Given the description of an element on the screen output the (x, y) to click on. 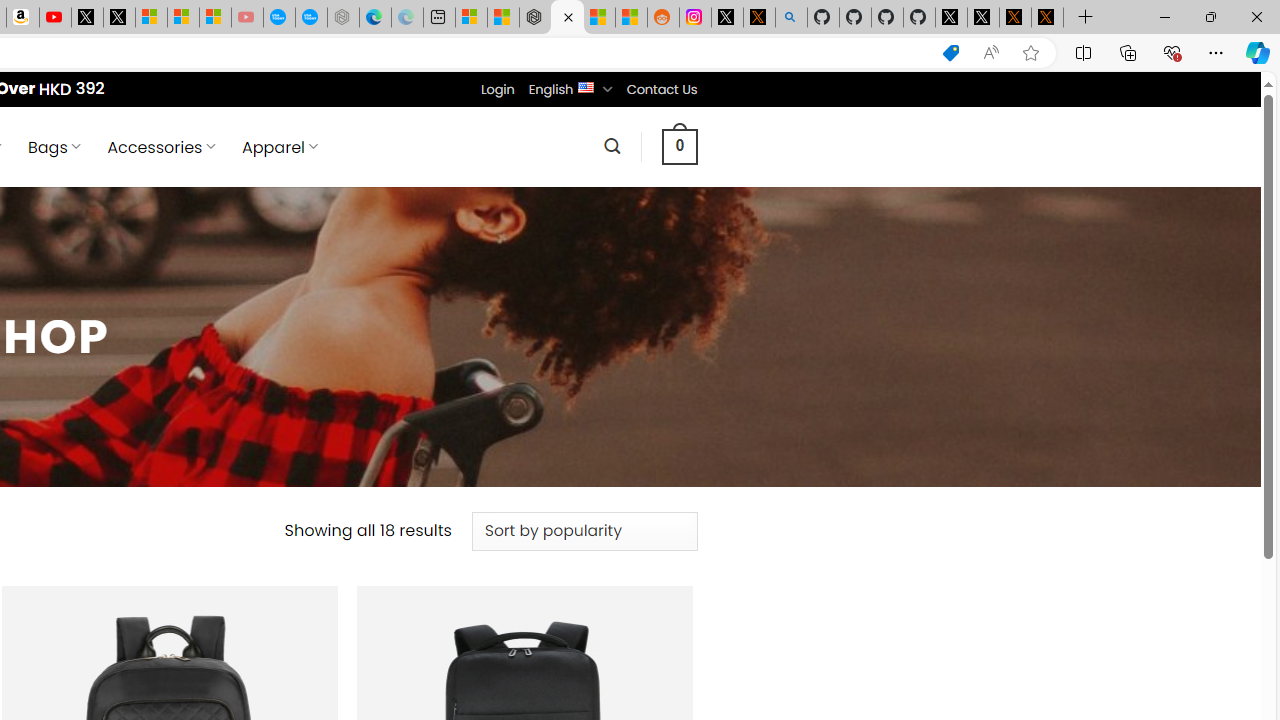
help.x.com | 524: A timeout occurred (758, 17)
Nordace - Best Sellers (535, 17)
Nordace - Products Archive (566, 17)
Microsoft account | Microsoft Account Privacy Settings (471, 17)
This site has coupons! Shopping in Microsoft Edge (950, 53)
Copilot (Ctrl+Shift+.) (1258, 52)
X (118, 17)
 0  (679, 146)
Collections (1128, 52)
Day 1: Arriving in Yemen (surreal to be here) - YouTube (54, 17)
